Given the description of an element on the screen output the (x, y) to click on. 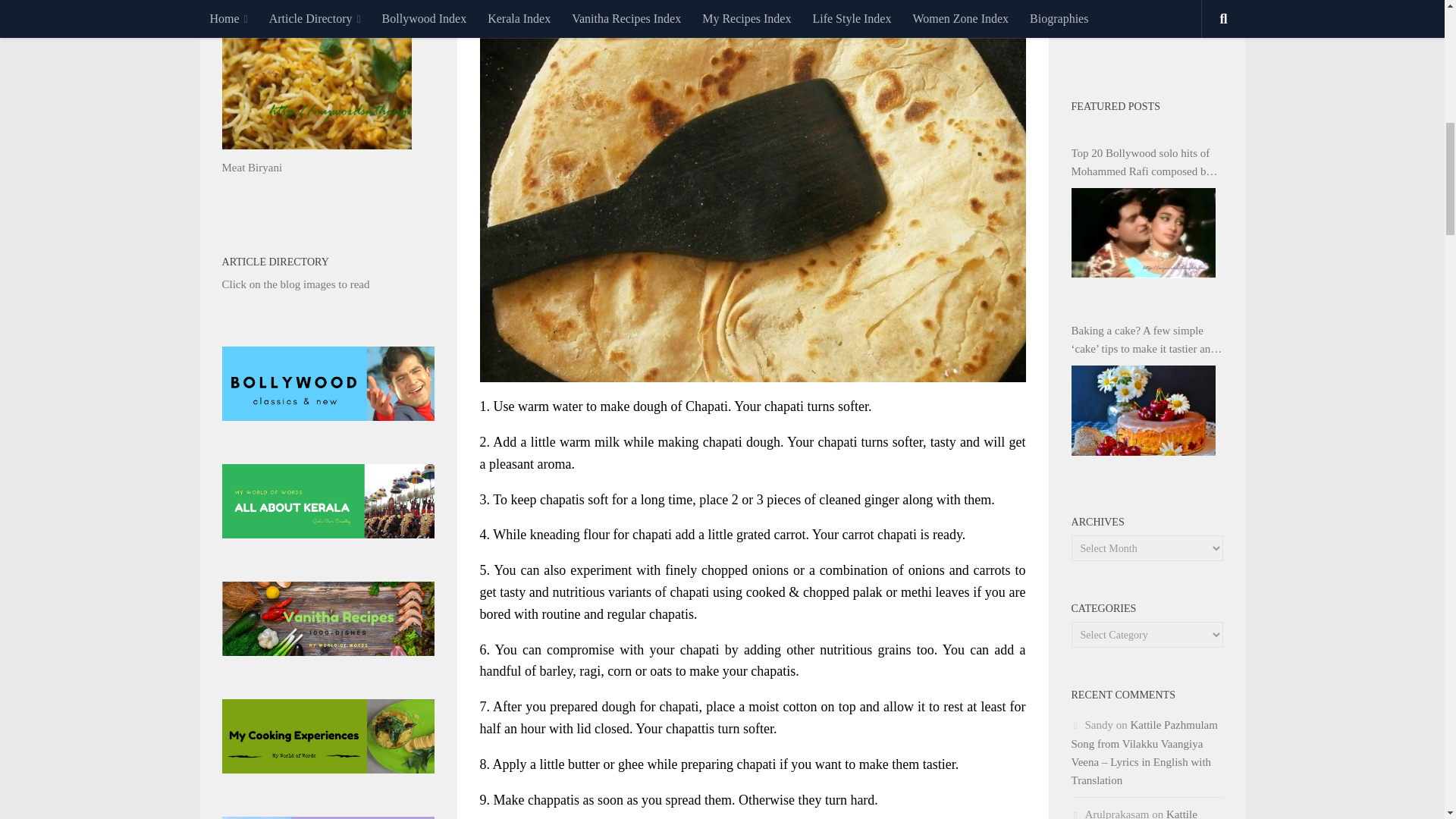
Advertisement (1146, 29)
